Given the description of an element on the screen output the (x, y) to click on. 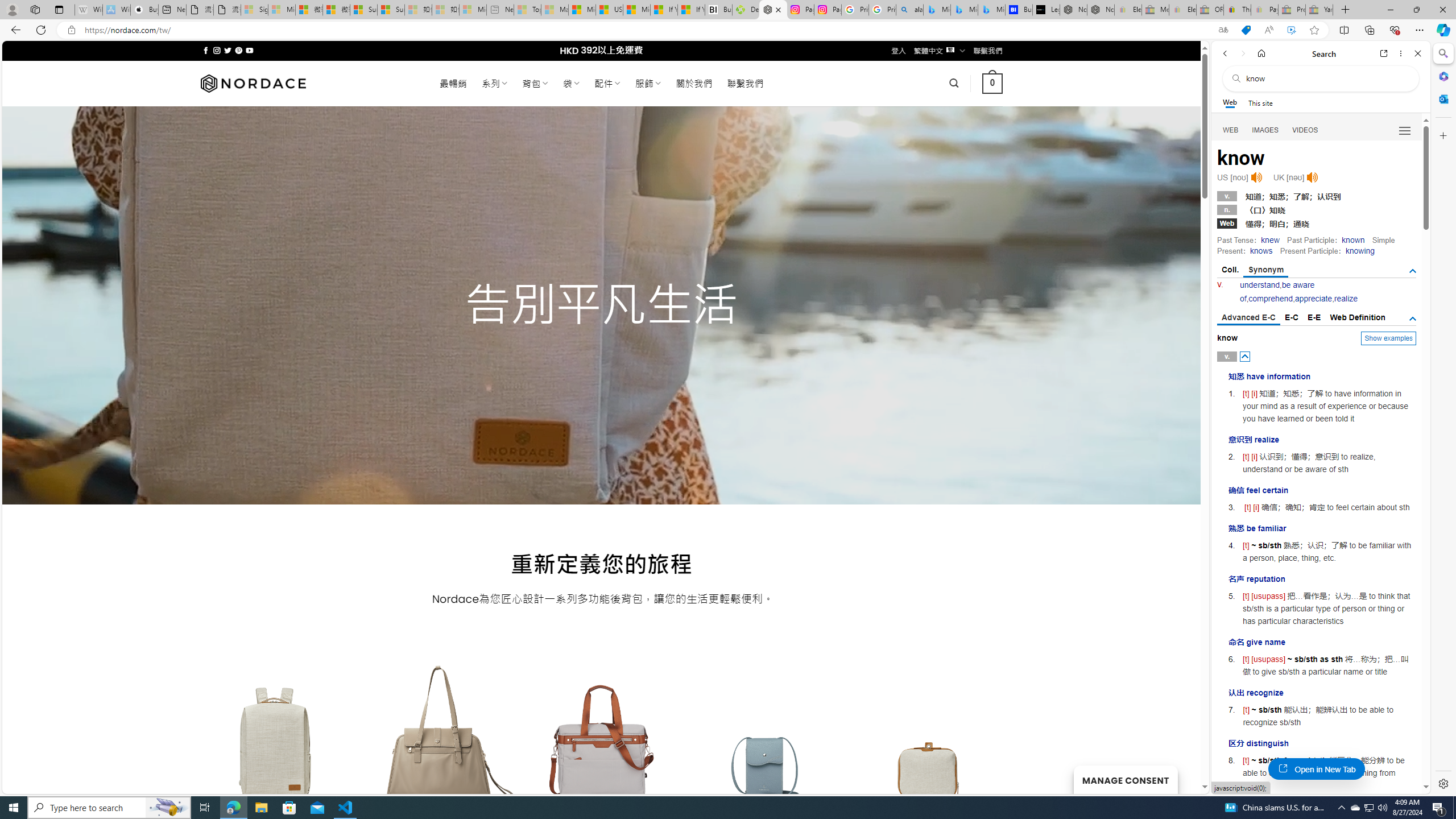
Microsoft Bing Travel - Flights from Hong Kong to Bangkok (936, 9)
knew (1269, 239)
  0   (992, 83)
E-C (1291, 317)
Follow on Pinterest (237, 50)
Click to listen (1312, 177)
realize (1345, 298)
MANAGE CONSENT (1125, 779)
